Given the description of an element on the screen output the (x, y) to click on. 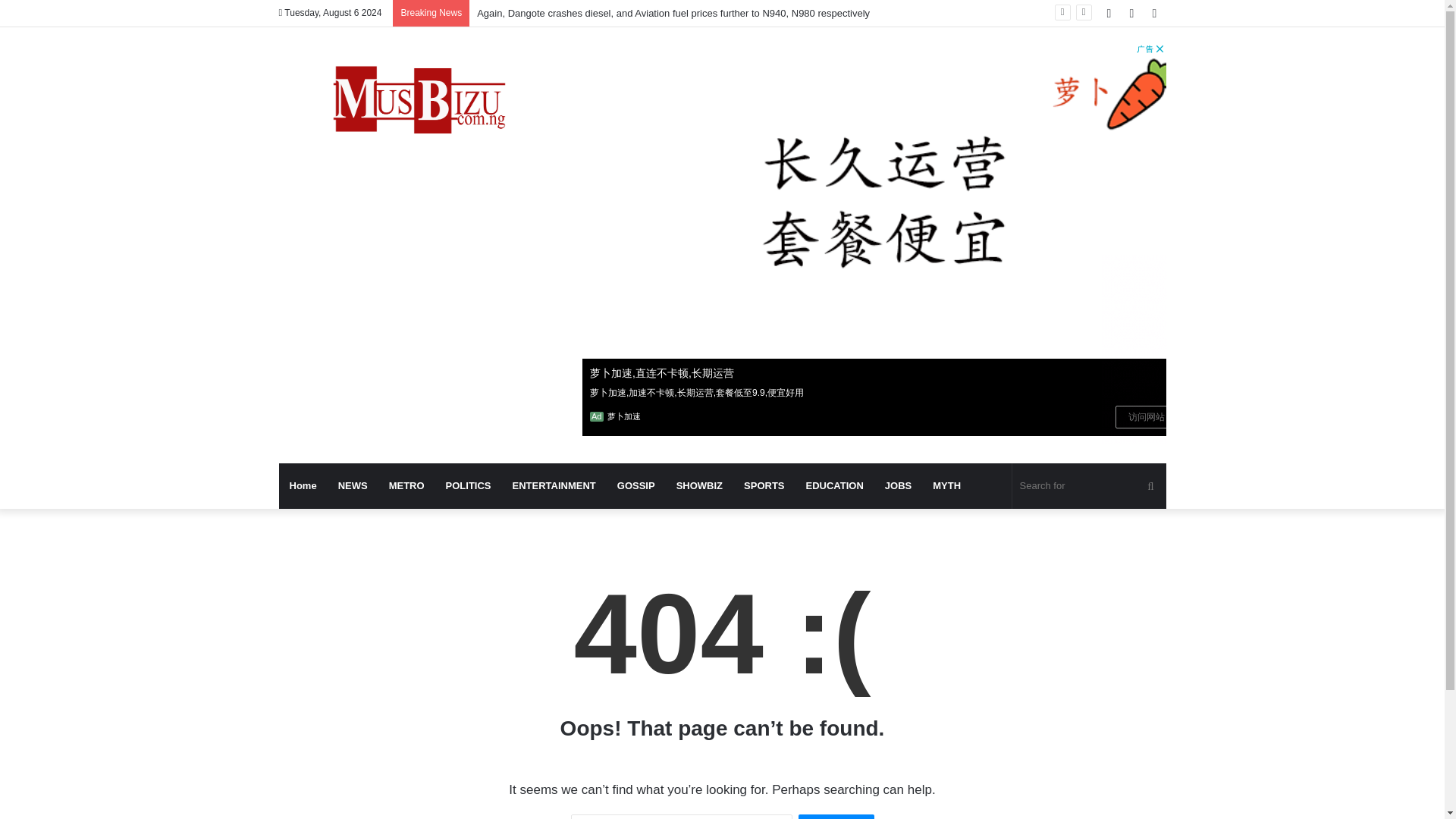
METRO (406, 485)
ENTERTAINMENT (554, 485)
POLITICS (468, 485)
JOBS (898, 485)
MYTH (946, 485)
Search (835, 816)
EDUCATION (834, 485)
Musbizu (419, 103)
Search (835, 816)
Search (835, 816)
GOSSIP (636, 485)
SHOWBIZ (699, 485)
Search for (1088, 485)
